Given the description of an element on the screen output the (x, y) to click on. 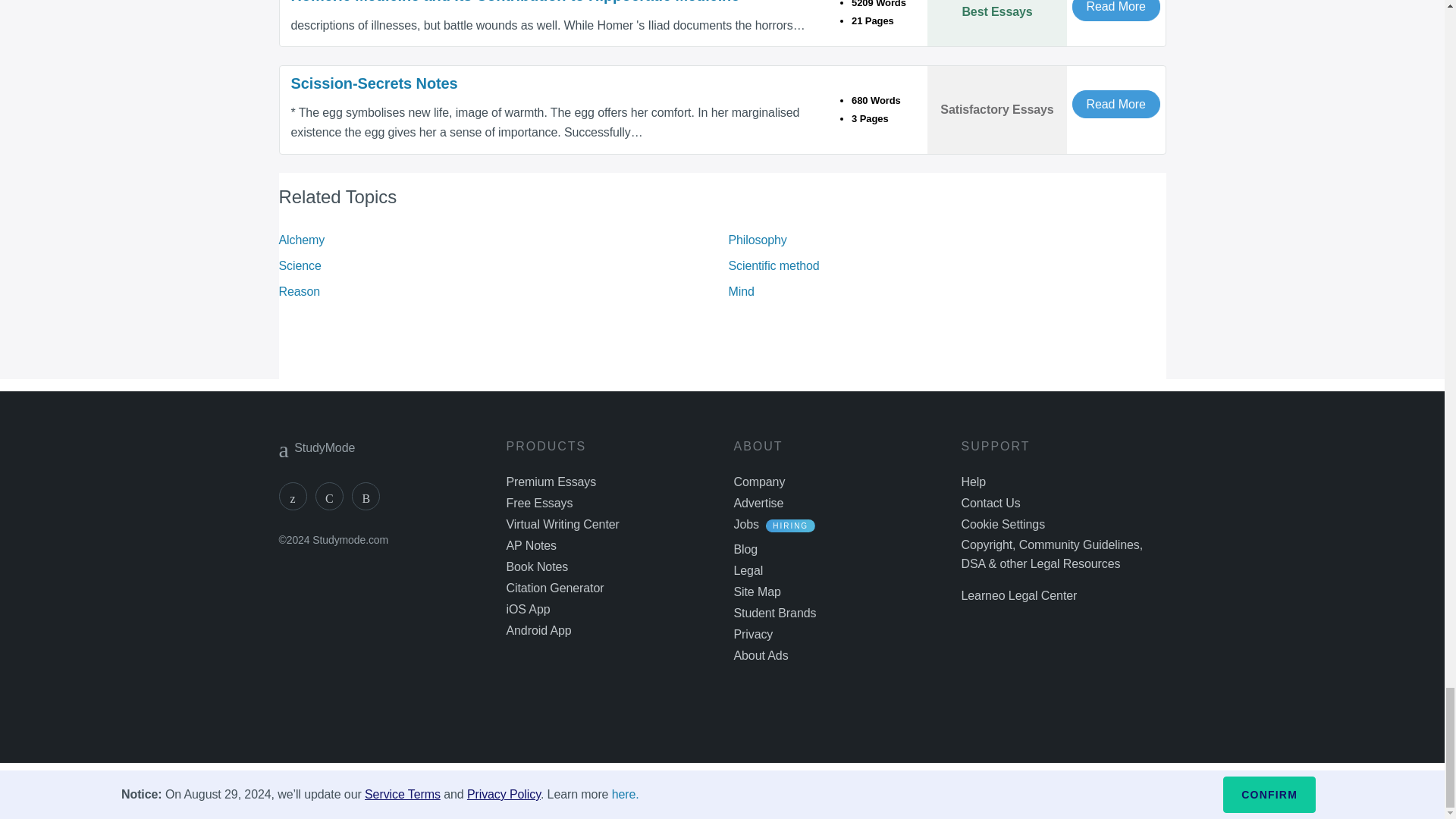
Philosophy (757, 239)
Scientific method (773, 265)
Mind (741, 291)
Reason (299, 291)
Alchemy (301, 239)
Science (300, 265)
